Given the description of an element on the screen output the (x, y) to click on. 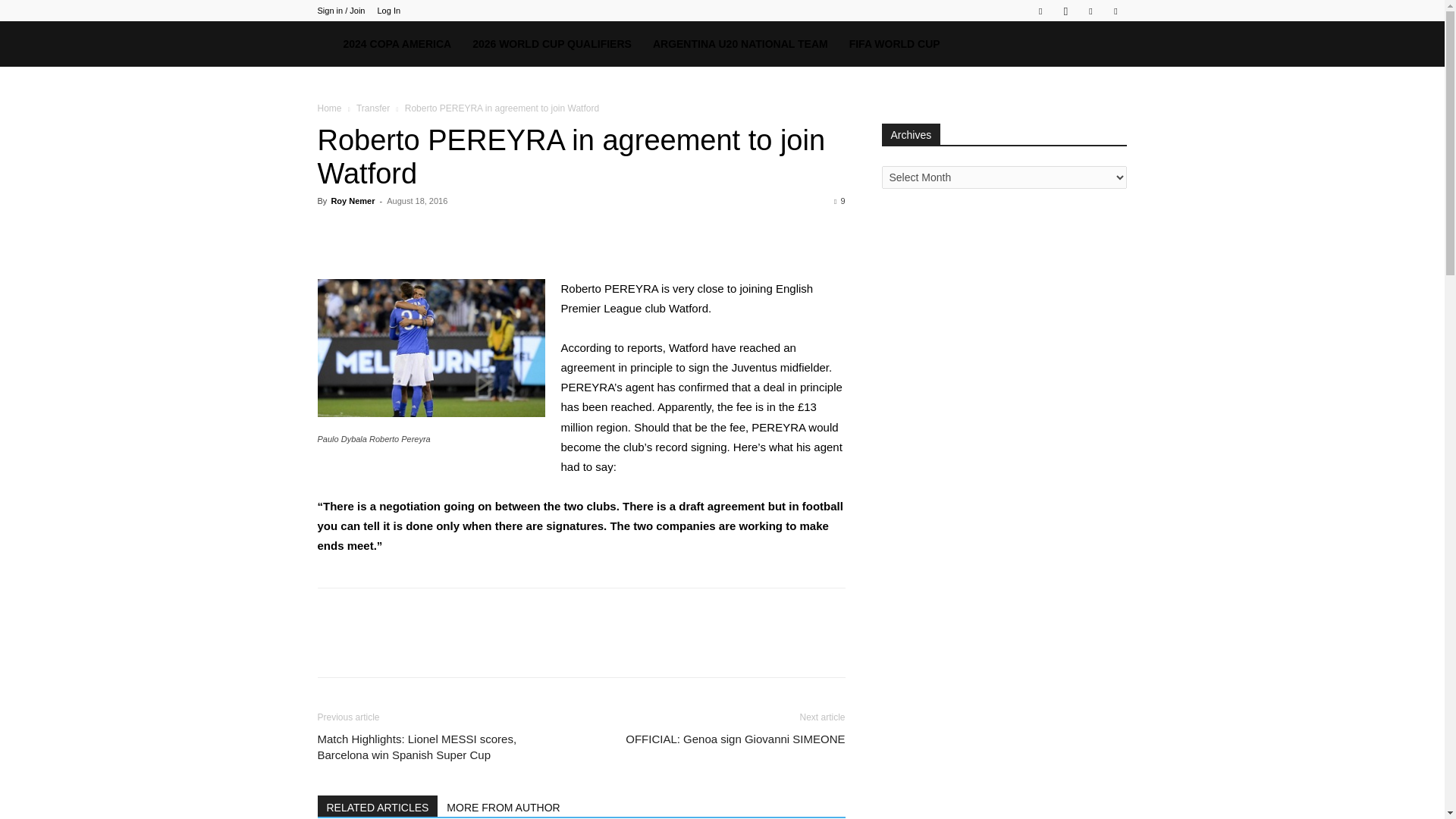
Twitter (1090, 10)
2026 WORLD CUP QUALIFIERS (551, 43)
9 (839, 200)
View all posts in Transfer (373, 108)
Log In (388, 10)
Youtube (1114, 10)
Transfer (373, 108)
Roy Nemer (352, 200)
Home (328, 108)
Facebook (1040, 10)
